Given the description of an element on the screen output the (x, y) to click on. 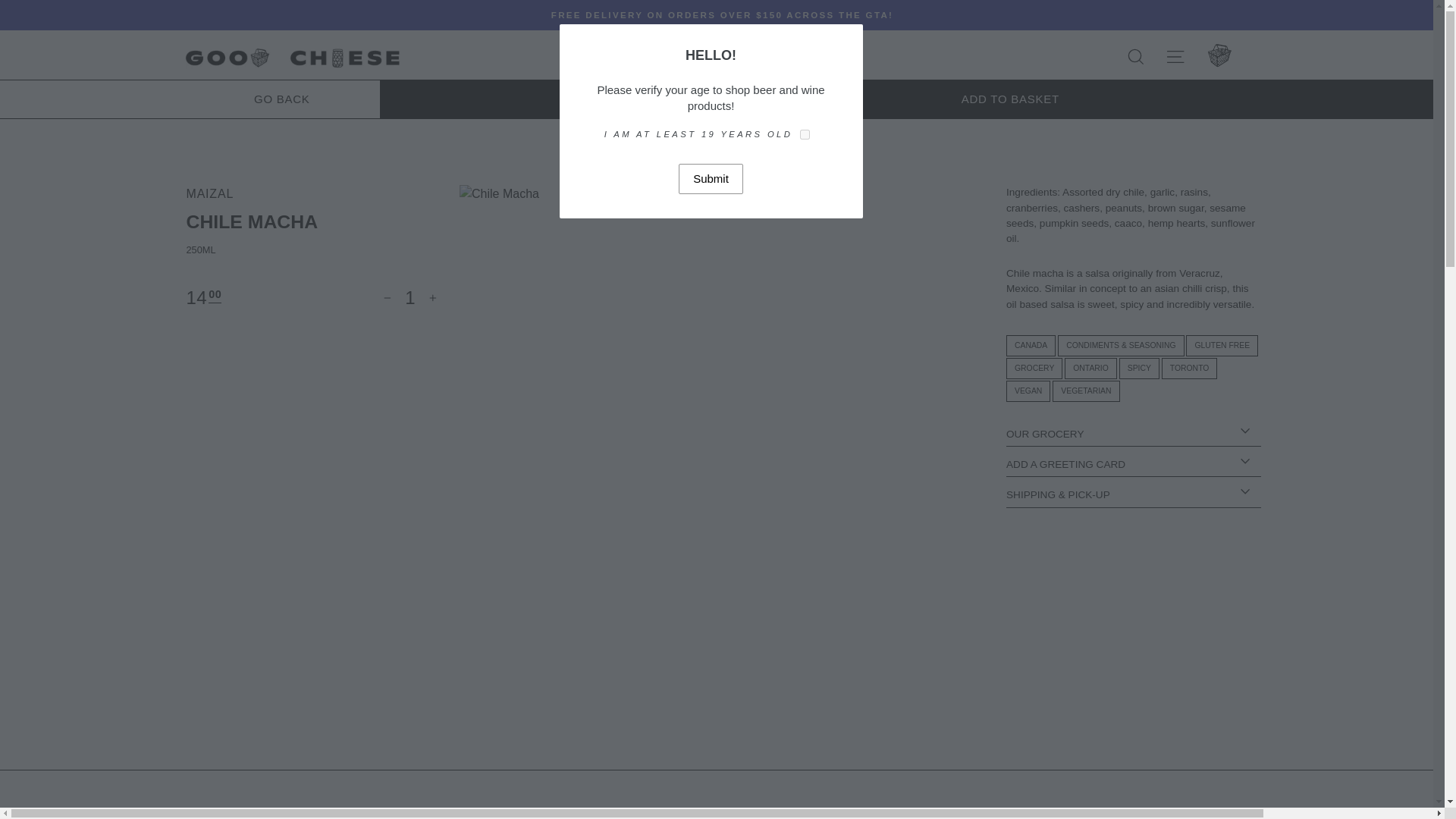
SITE NAVIGATION (1175, 56)
BASKET (1219, 56)
VEGAN (1027, 391)
MAIZAL (210, 193)
SEARCH (1136, 56)
ADD TO BASKET (918, 98)
VEGETARIAN (1085, 391)
CANADA (1030, 345)
Submit (710, 178)
GROCERY (1034, 368)
1 (410, 297)
GLUTEN FREE (1221, 345)
ONTARIO (1090, 368)
TORONTO (1189, 368)
